Given the description of an element on the screen output the (x, y) to click on. 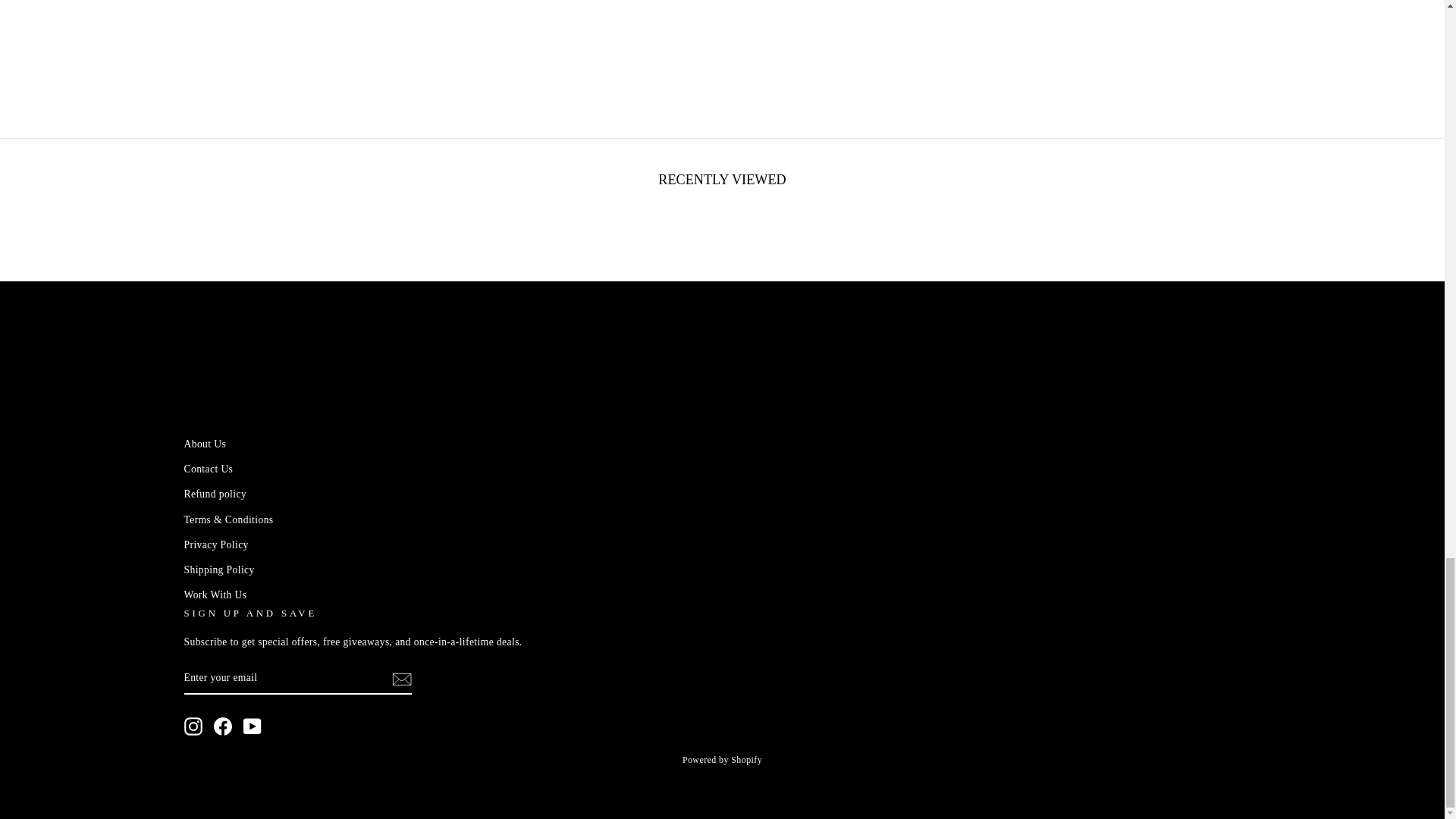
Bhasin Brothers on Facebook (222, 726)
icon-email (400, 679)
instagram (192, 726)
Bhasin Brothers on YouTube (251, 726)
Bhasin Brothers on Instagram (192, 726)
